Given the description of an element on the screen output the (x, y) to click on. 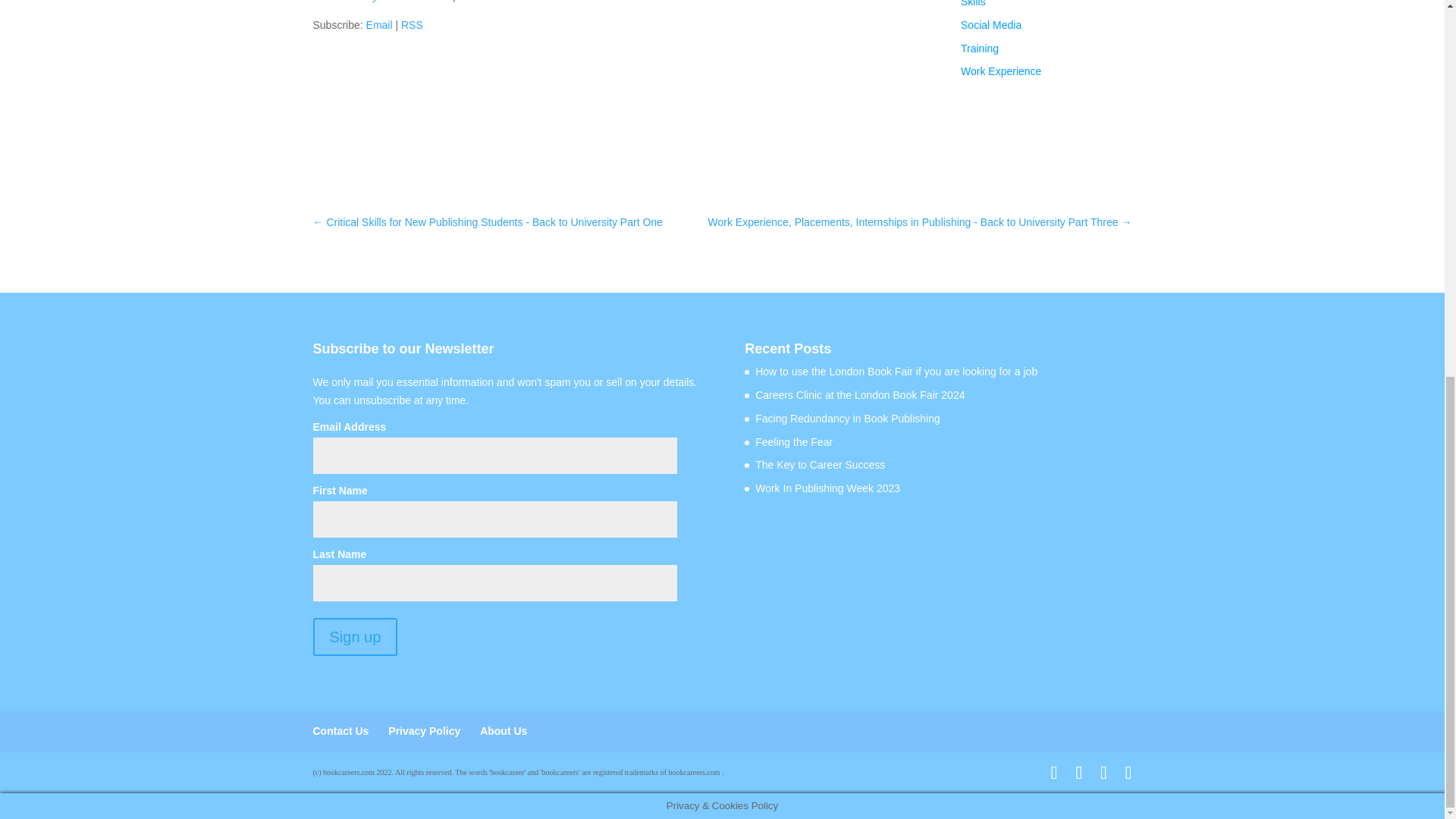
Careers Clinic at the London Book Fair 2024 (859, 395)
Play in new window (402, 1)
Social Media (991, 24)
Email (379, 24)
Subscribe by Email (379, 24)
Subscribe via RSS (412, 24)
Work Experience (1000, 70)
How to use the London Book Fair if you are looking for a job (895, 371)
RSS (412, 24)
Download (481, 1)
Download (481, 1)
Sign up (355, 637)
Skills (972, 3)
Play in new window (402, 1)
Sign up (355, 637)
